Given the description of an element on the screen output the (x, y) to click on. 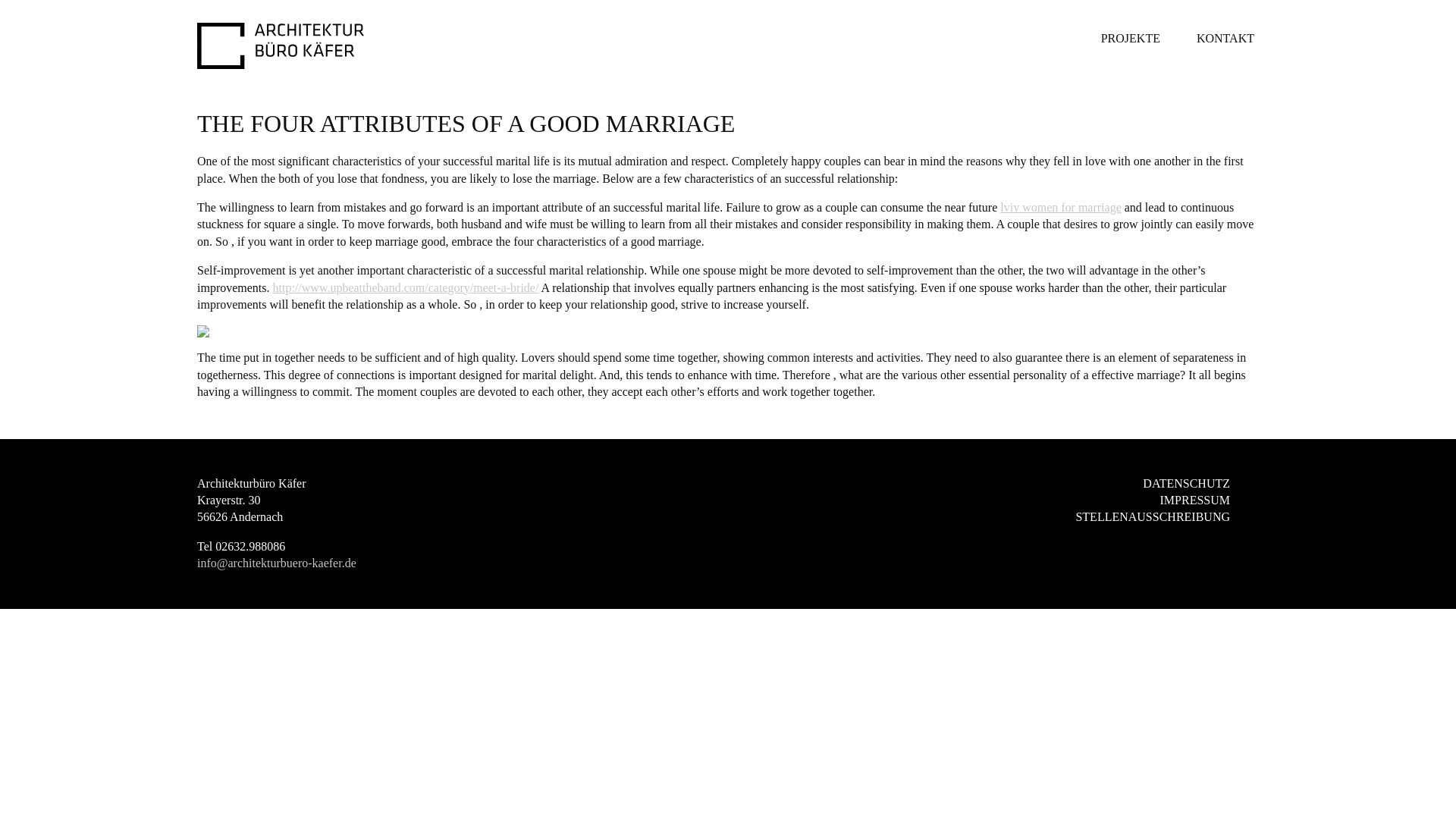
STELLENAUSSCHREIBUNG (1152, 516)
DATENSCHUTZ (1186, 483)
IMPRESSUM (1195, 499)
KONTAKT (1225, 37)
lviv women for marriage (1060, 206)
PROJEKTE (1130, 37)
